Given the description of an element on the screen output the (x, y) to click on. 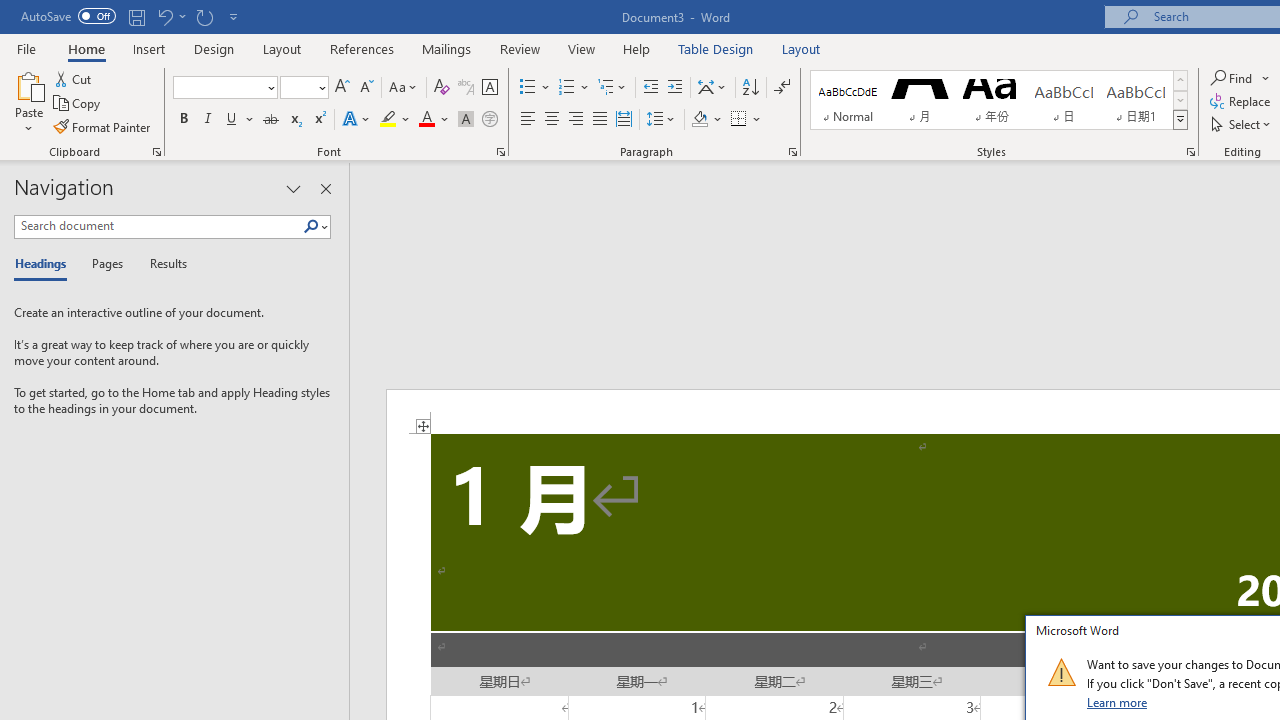
Distributed (623, 119)
Multilevel List (613, 87)
References (362, 48)
Strikethrough (270, 119)
Align Left (527, 119)
Paste (28, 84)
Bold (183, 119)
Mailings (447, 48)
Font Color RGB(255, 0, 0) (426, 119)
Styles (1179, 120)
Underline (232, 119)
Phonetic Guide... (465, 87)
Home (86, 48)
Text Effects and Typography (357, 119)
